Given the description of an element on the screen output the (x, y) to click on. 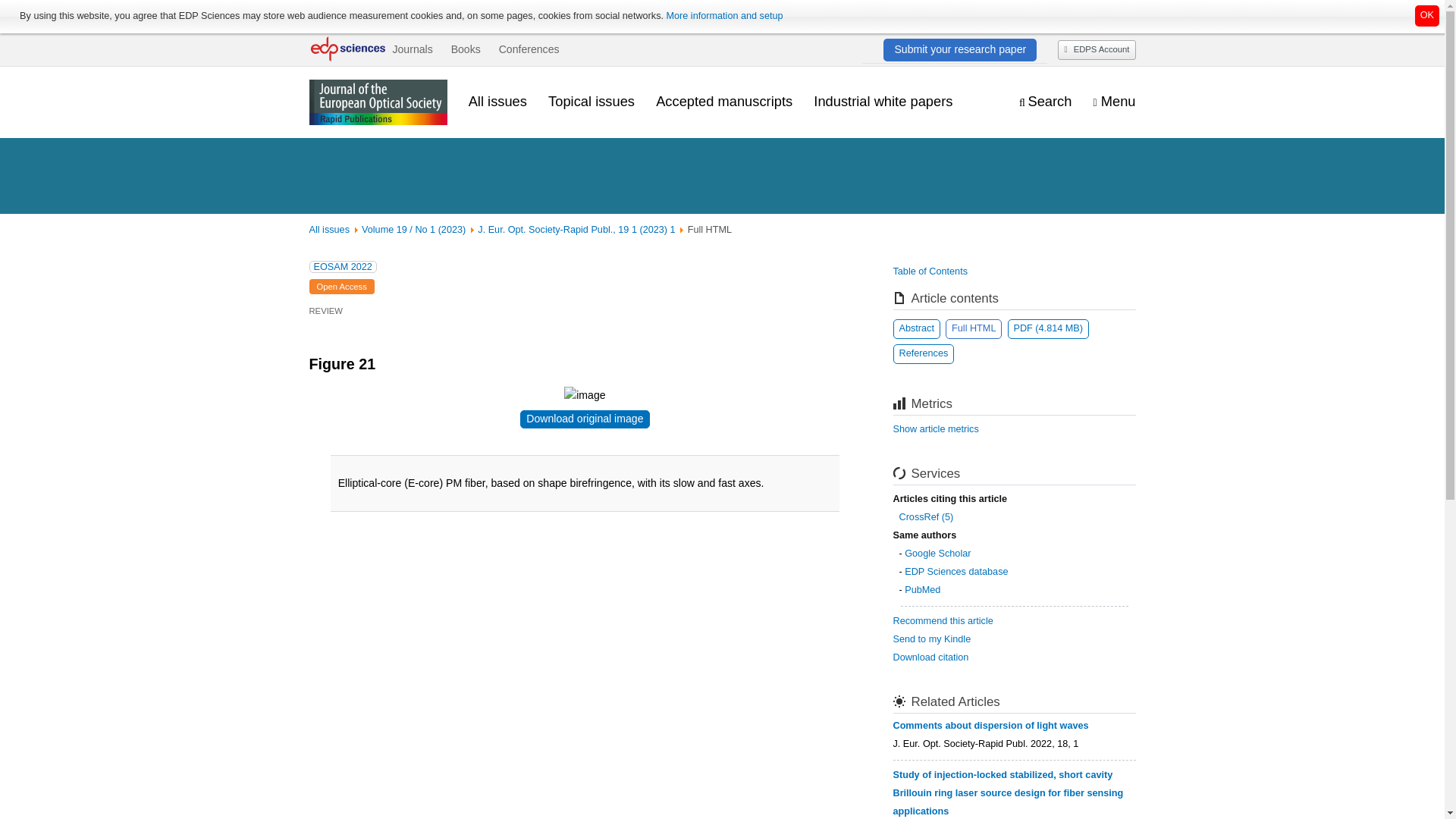
Journals (411, 49)
Click to close this notification (1427, 15)
Submit your research paper (959, 49)
Full HTML (972, 329)
EOSAM 2022 (342, 266)
Abstract (916, 329)
Topical issues (591, 101)
Send this article to my Kindle (932, 638)
Accepted manuscripts (724, 101)
Display the search engine (1045, 102)
More information and setup (724, 15)
All issues (497, 101)
References (924, 353)
OK (1427, 15)
Conferences (529, 49)
